Given the description of an element on the screen output the (x, y) to click on. 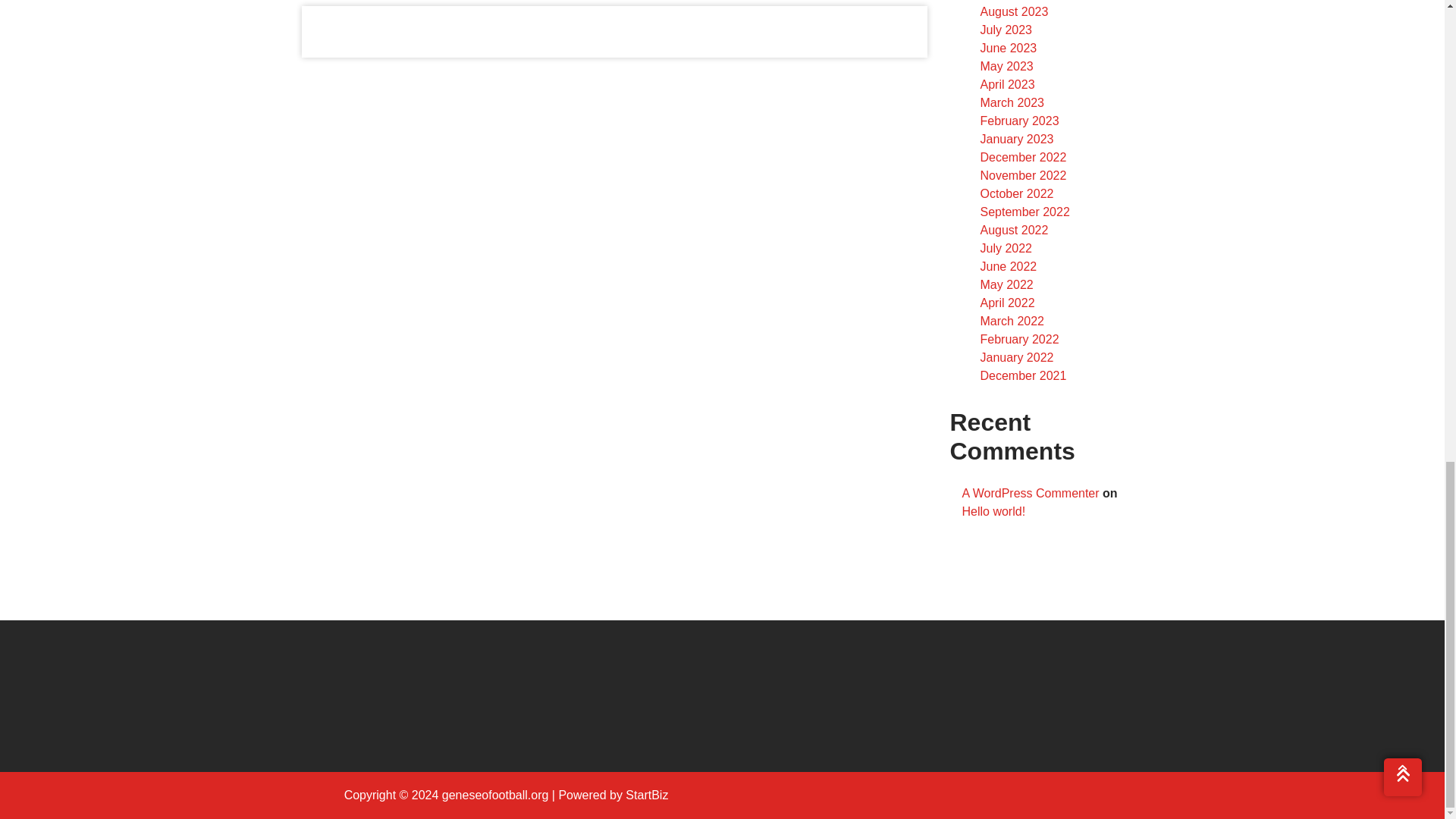
August 2023 (1013, 11)
July 2023 (1005, 29)
